Given the description of an element on the screen output the (x, y) to click on. 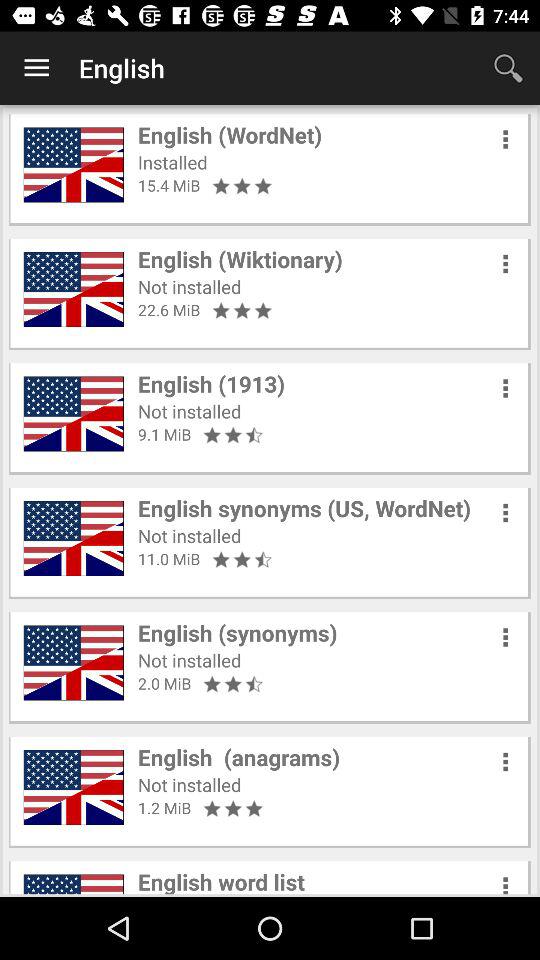
select icon above not installed item (239, 757)
